Given the description of an element on the screen output the (x, y) to click on. 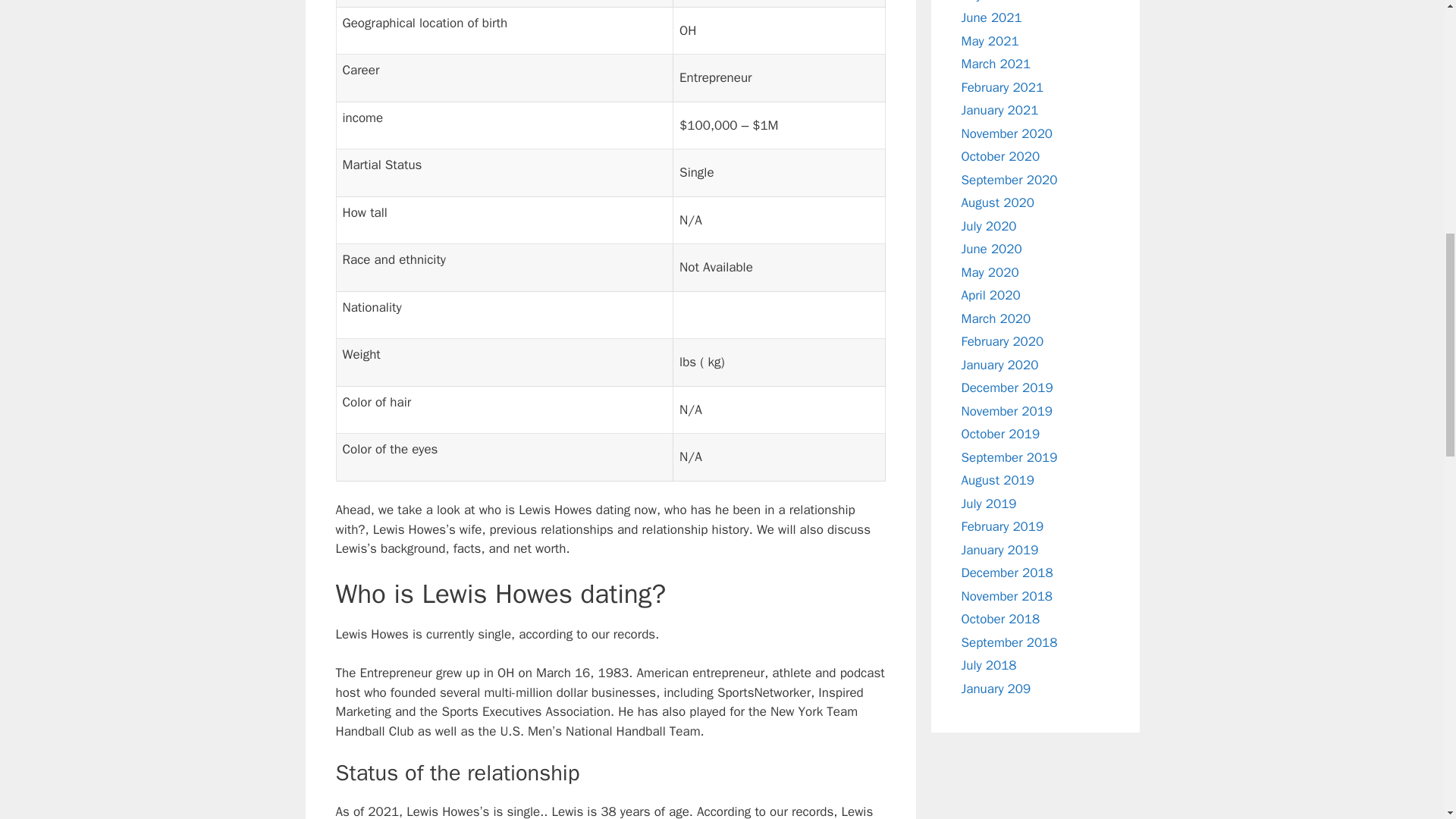
March 2021 (995, 64)
May 2021 (989, 41)
February 2021 (1001, 86)
June 2021 (991, 17)
July 2021 (988, 1)
